Given the description of an element on the screen output the (x, y) to click on. 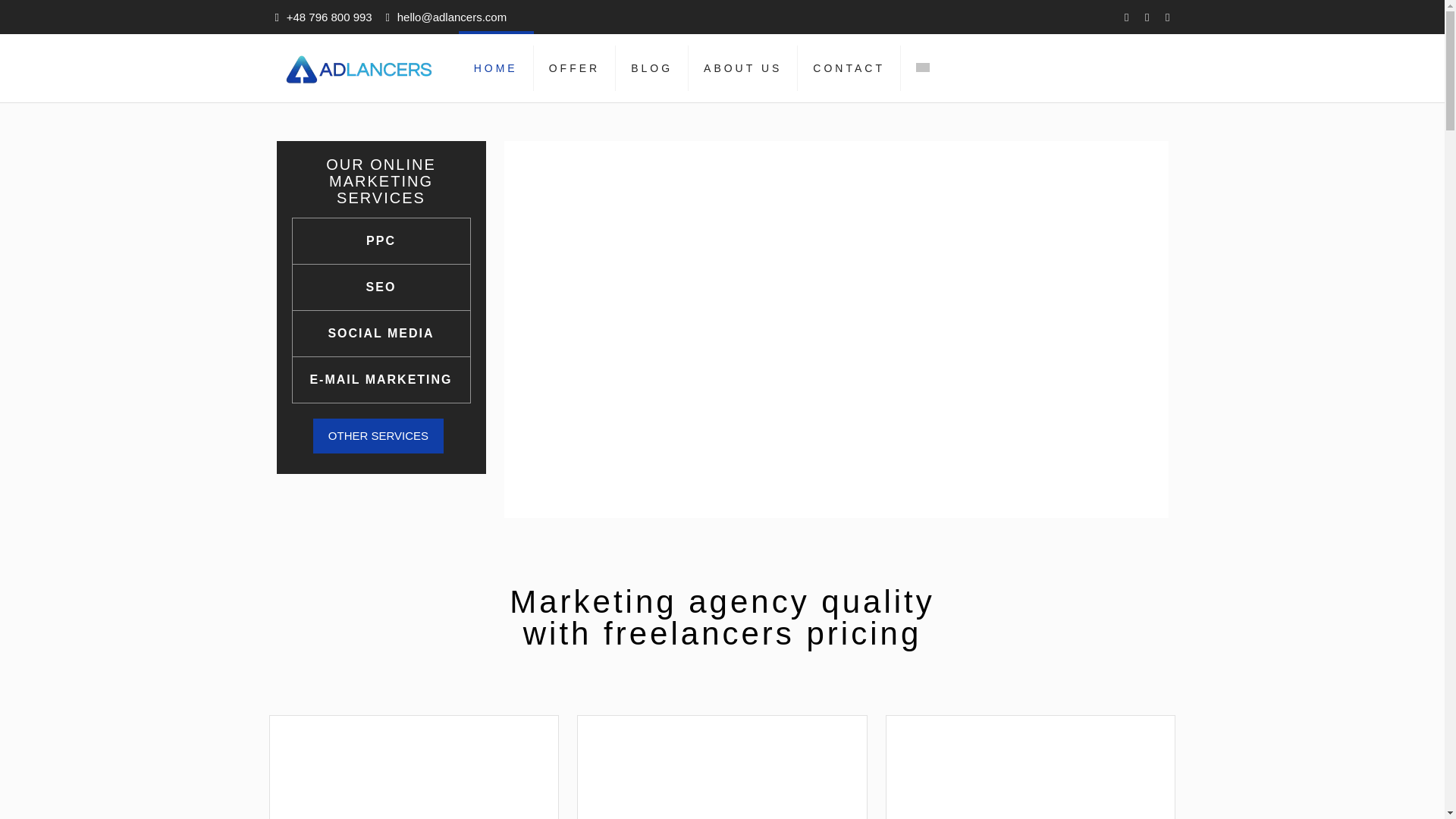
SEO (381, 287)
PPC (381, 241)
ABOUT US (742, 68)
Adlancers - Digital Marketing Freelancers (359, 68)
OTHER SERVICES (378, 435)
English (922, 67)
YouTube (1146, 16)
HOME (496, 68)
LinkedIn (1166, 16)
E-MAIL MARKETING (381, 380)
